Given the description of an element on the screen output the (x, y) to click on. 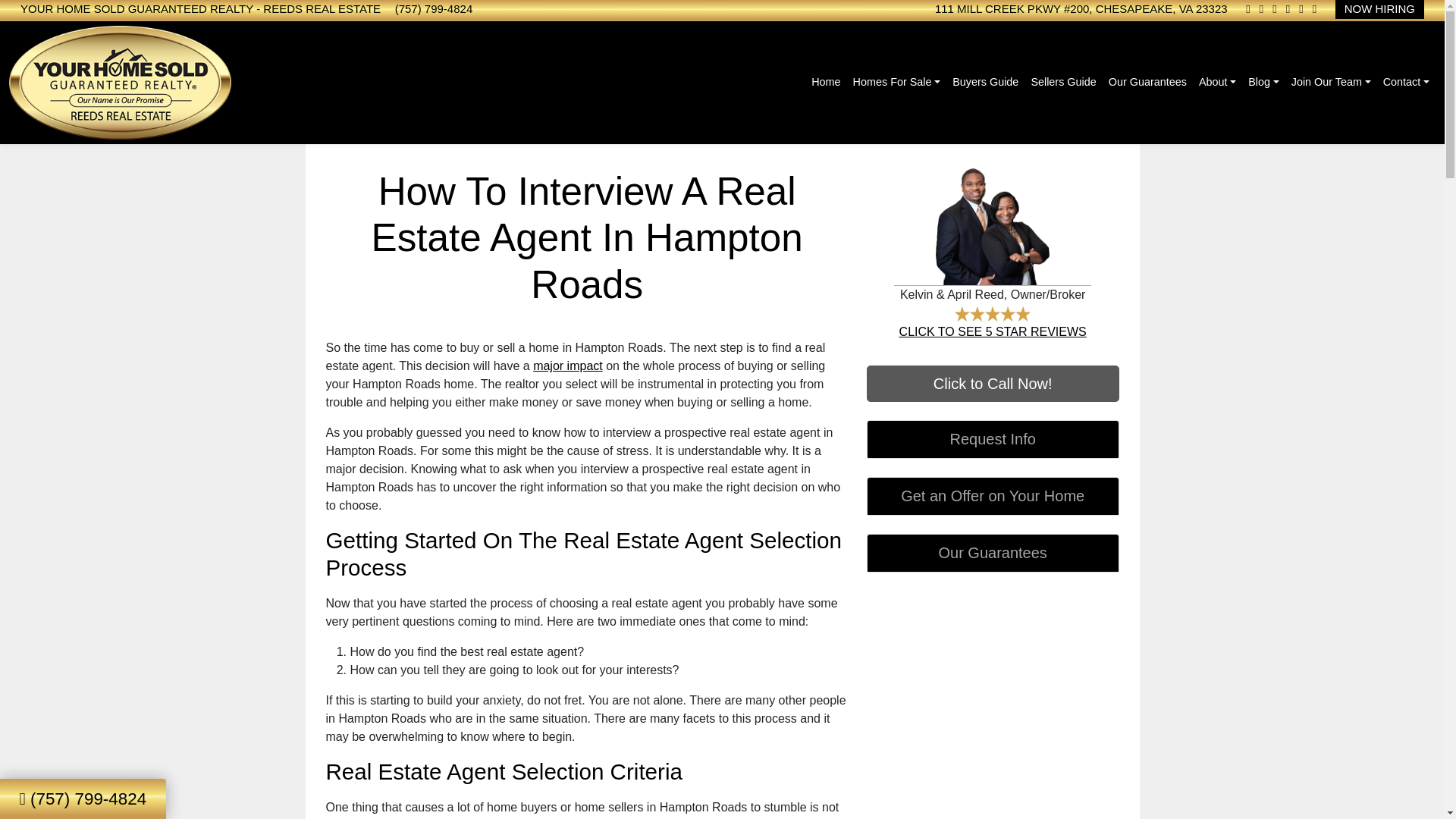
Home (825, 82)
Join Our Team (1331, 82)
Our Guarantees (1147, 82)
Homes For Sale (897, 82)
Sellers Guide (1063, 82)
NOW HIRING (1379, 9)
Home (825, 82)
Join Our Team (1331, 82)
About (1216, 82)
Blog (1262, 82)
Buyers Guide (985, 82)
Sellers Guide (1063, 82)
Blog (1262, 82)
About (1216, 82)
Homes For Sale (897, 82)
